Given the description of an element on the screen output the (x, y) to click on. 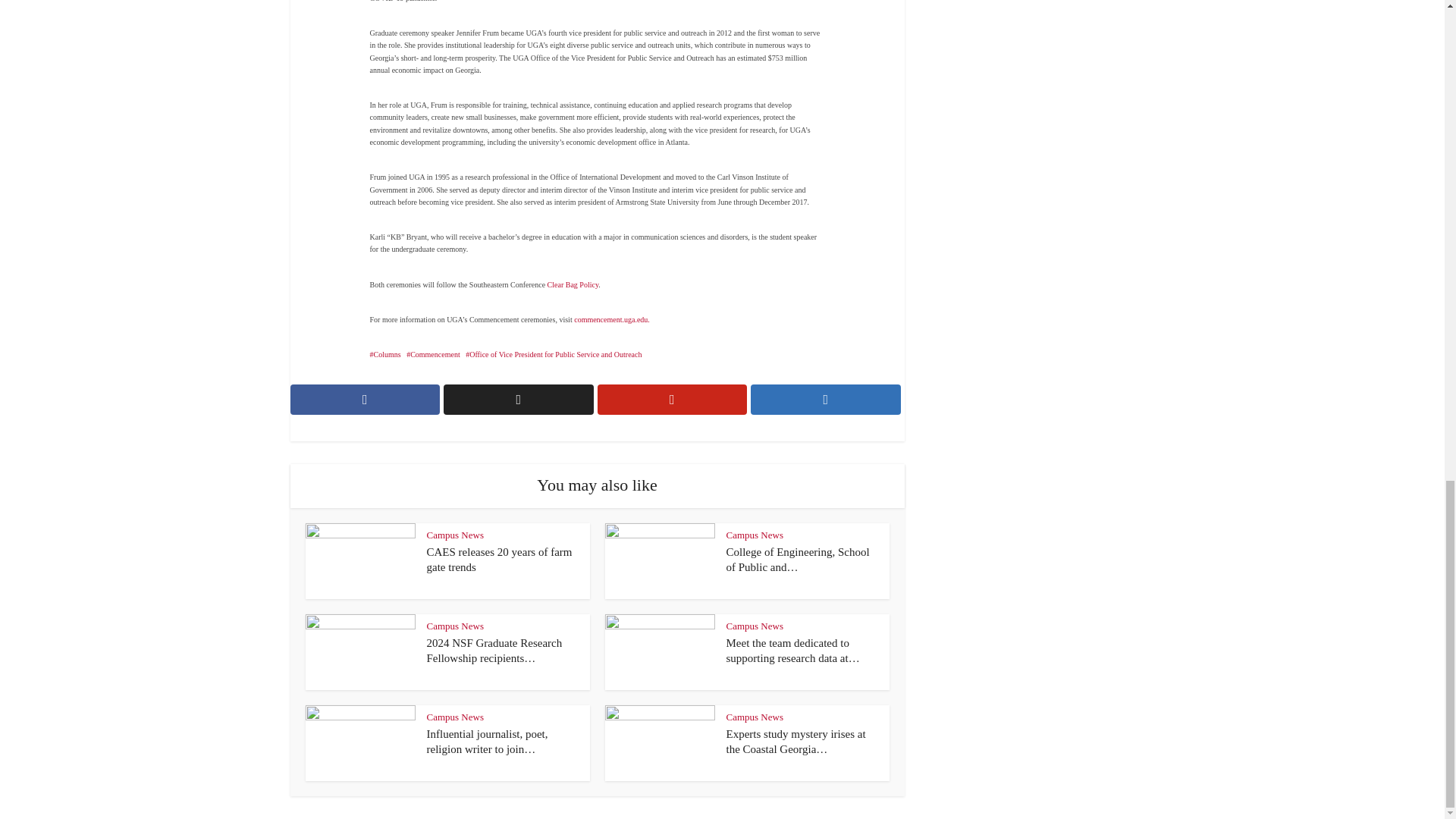
Office of Vice President for Public Service and Outreach (553, 354)
Clear Bag Policy (572, 284)
2024 NSF Graduate Research Fellowship recipients announced (494, 650)
CAES releases 20 years of farm gate trends (499, 559)
Campus News (754, 534)
Meet the team dedicated to supporting research data at UGA (793, 650)
CAES releases 20 years of farm gate trends (499, 559)
Campus News (454, 625)
